Given the description of an element on the screen output the (x, y) to click on. 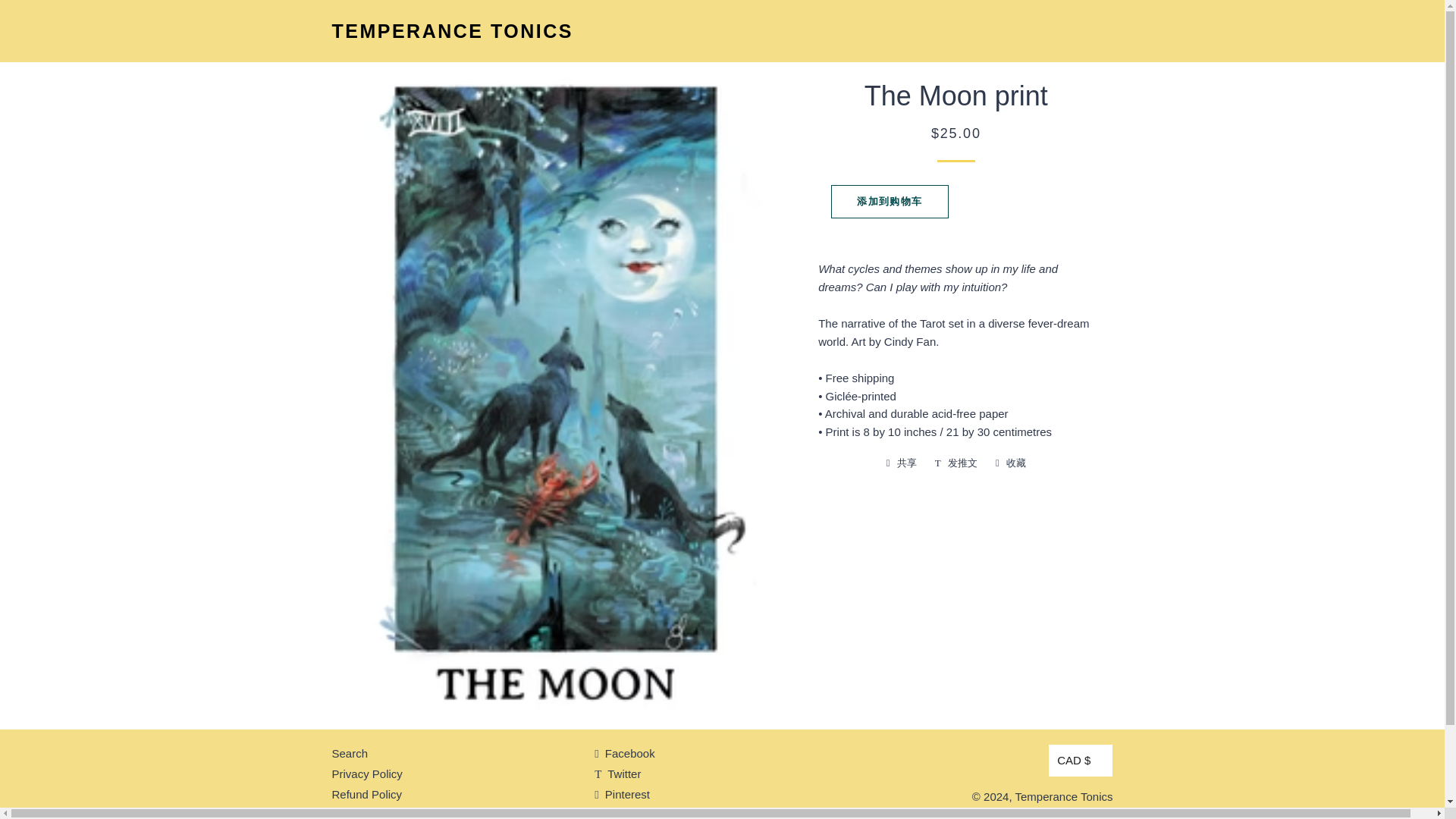
TEMPERANCE TONICS (452, 31)
Facebook (624, 753)
Privacy Policy (367, 773)
Refund Policy (367, 793)
Shipping Policy (370, 814)
Search (349, 753)
